Given the description of an element on the screen output the (x, y) to click on. 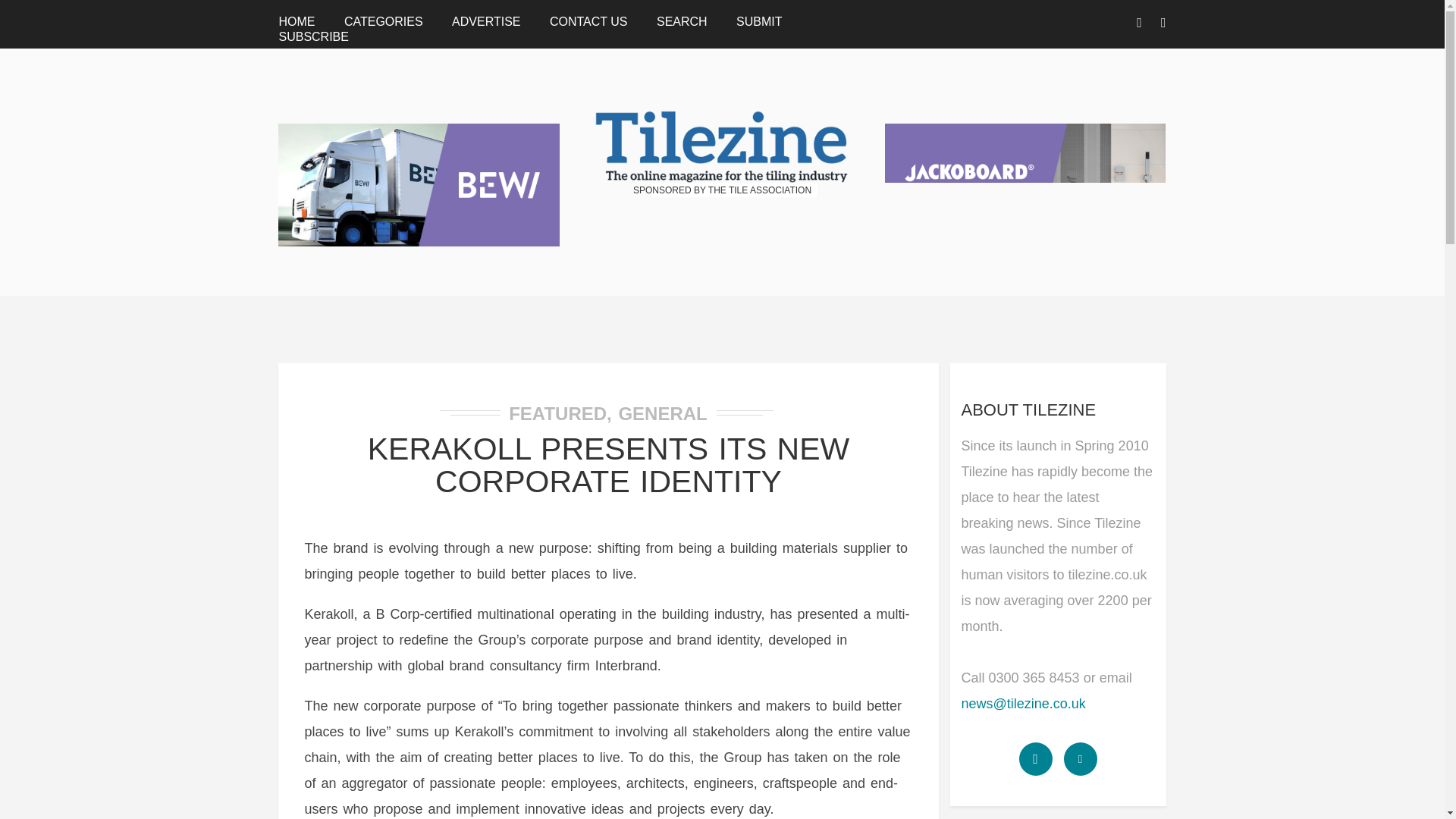
CONTACT US (588, 21)
SEARCH (681, 21)
ADVERTISE (485, 21)
HOME (296, 21)
FEATURED (557, 413)
CATEGORIES (383, 21)
SUBMIT (758, 21)
SUBSCRIBE (312, 37)
GENERAL (661, 413)
